Given the description of an element on the screen output the (x, y) to click on. 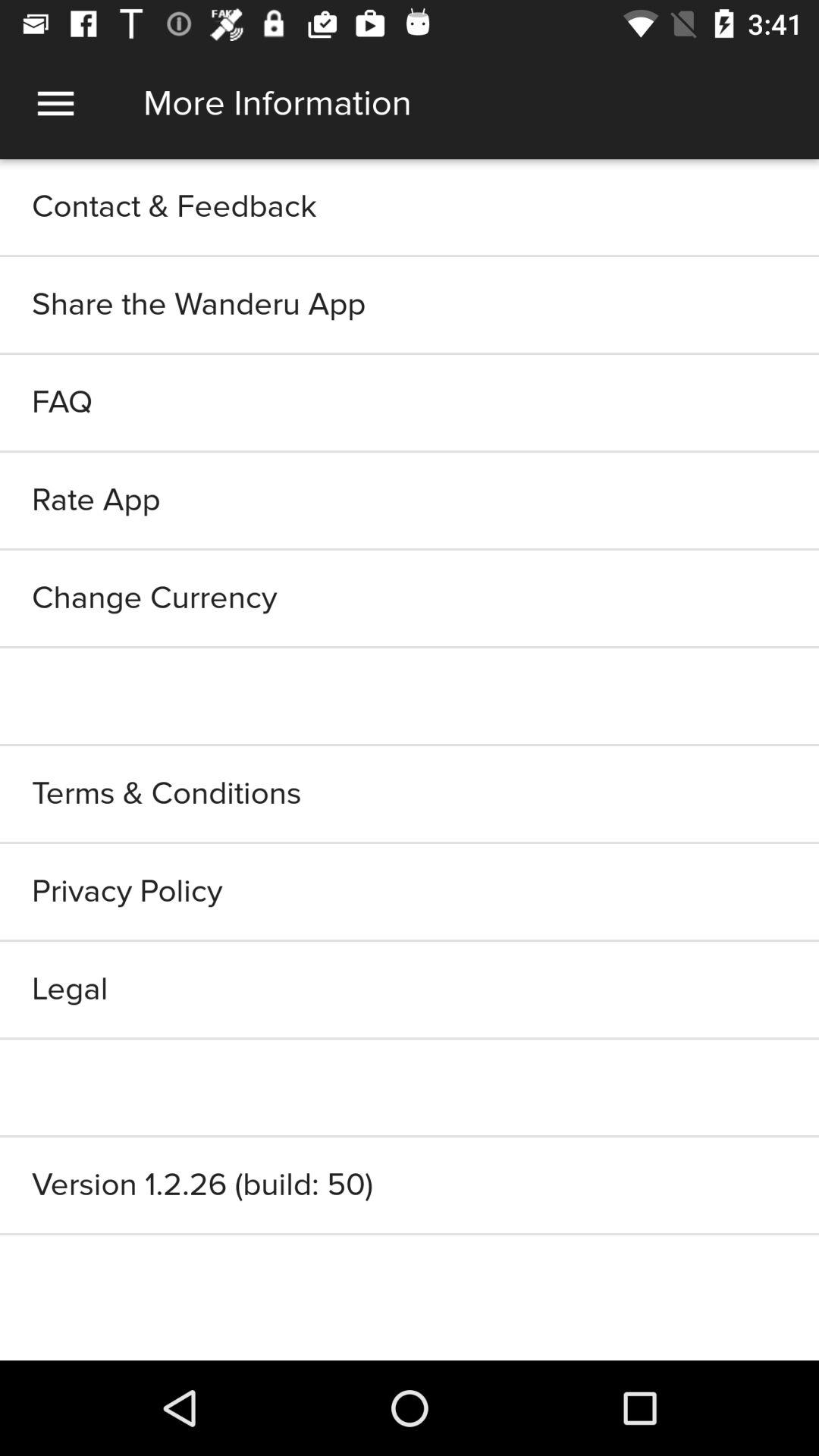
choose faq icon (409, 402)
